Given the description of an element on the screen output the (x, y) to click on. 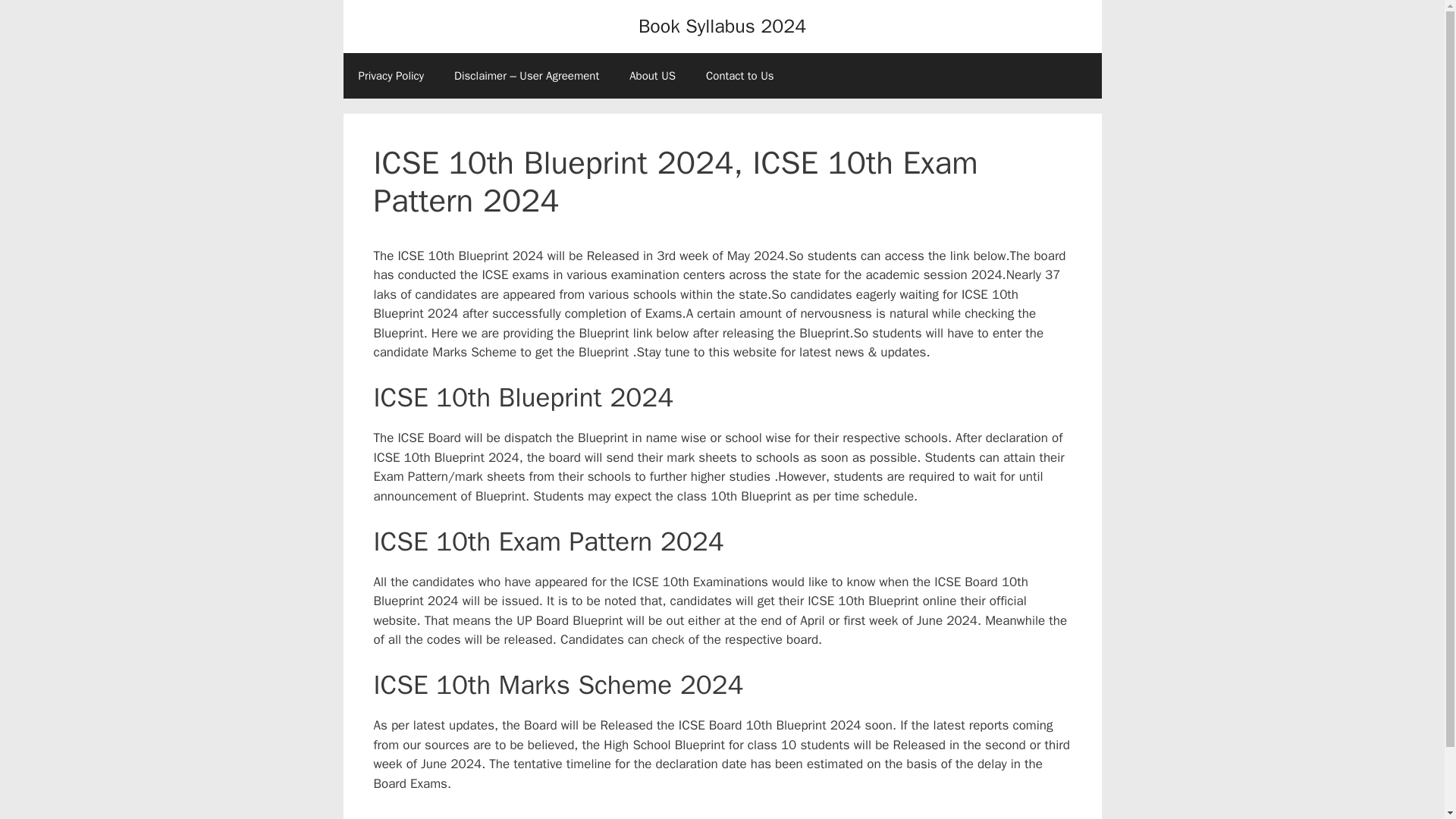
Privacy Policy (390, 75)
Book Syllabus 2024 (722, 25)
Contact to Us (739, 75)
About US (652, 75)
